Given the description of an element on the screen output the (x, y) to click on. 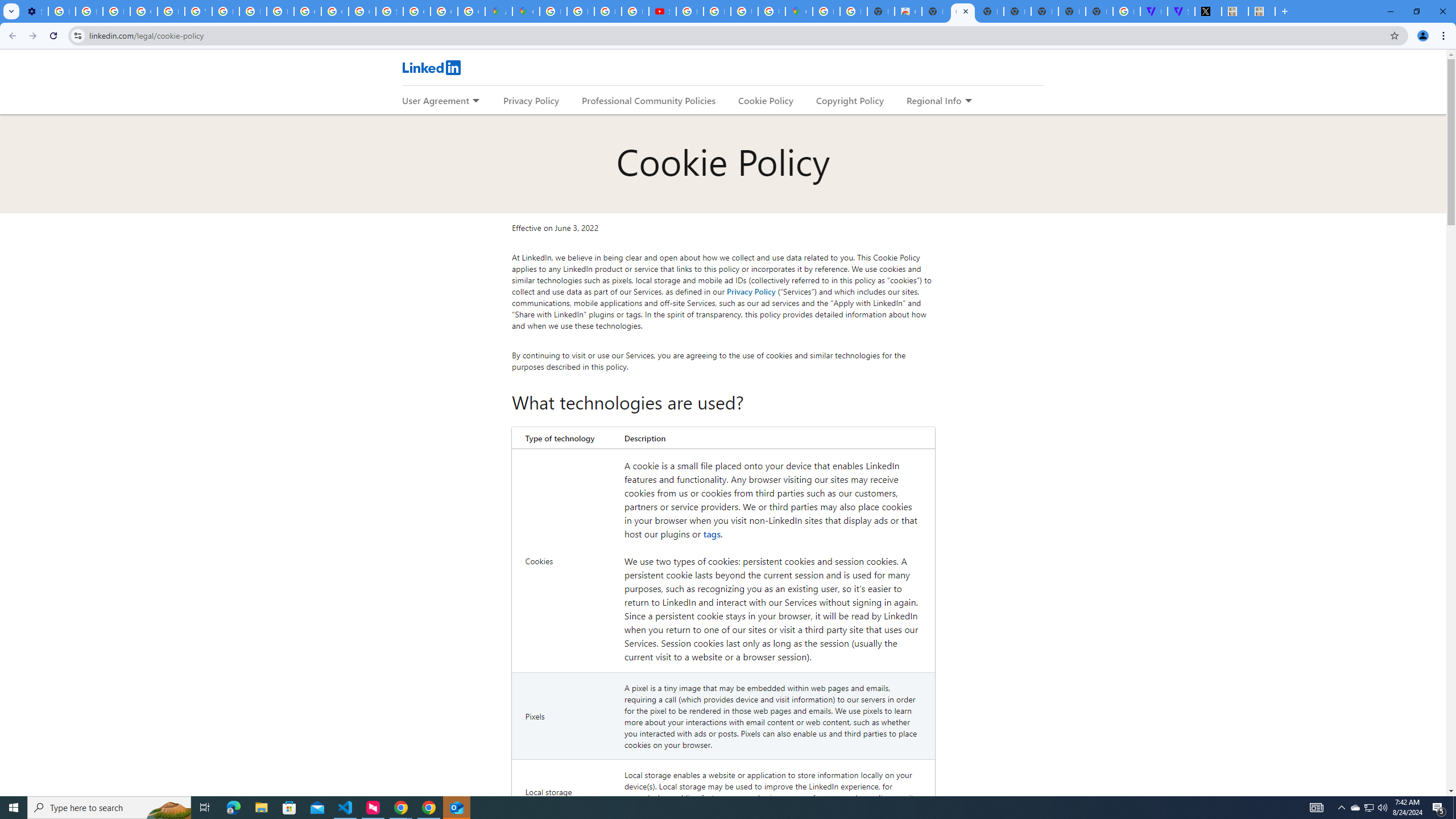
Restore (1416, 11)
Subscriptions - YouTube (662, 11)
Blogger Policies and Guidelines - Transparency Center (553, 11)
Expand to show more links for User Agreement (475, 101)
Back (10, 35)
